Given the description of an element on the screen output the (x, y) to click on. 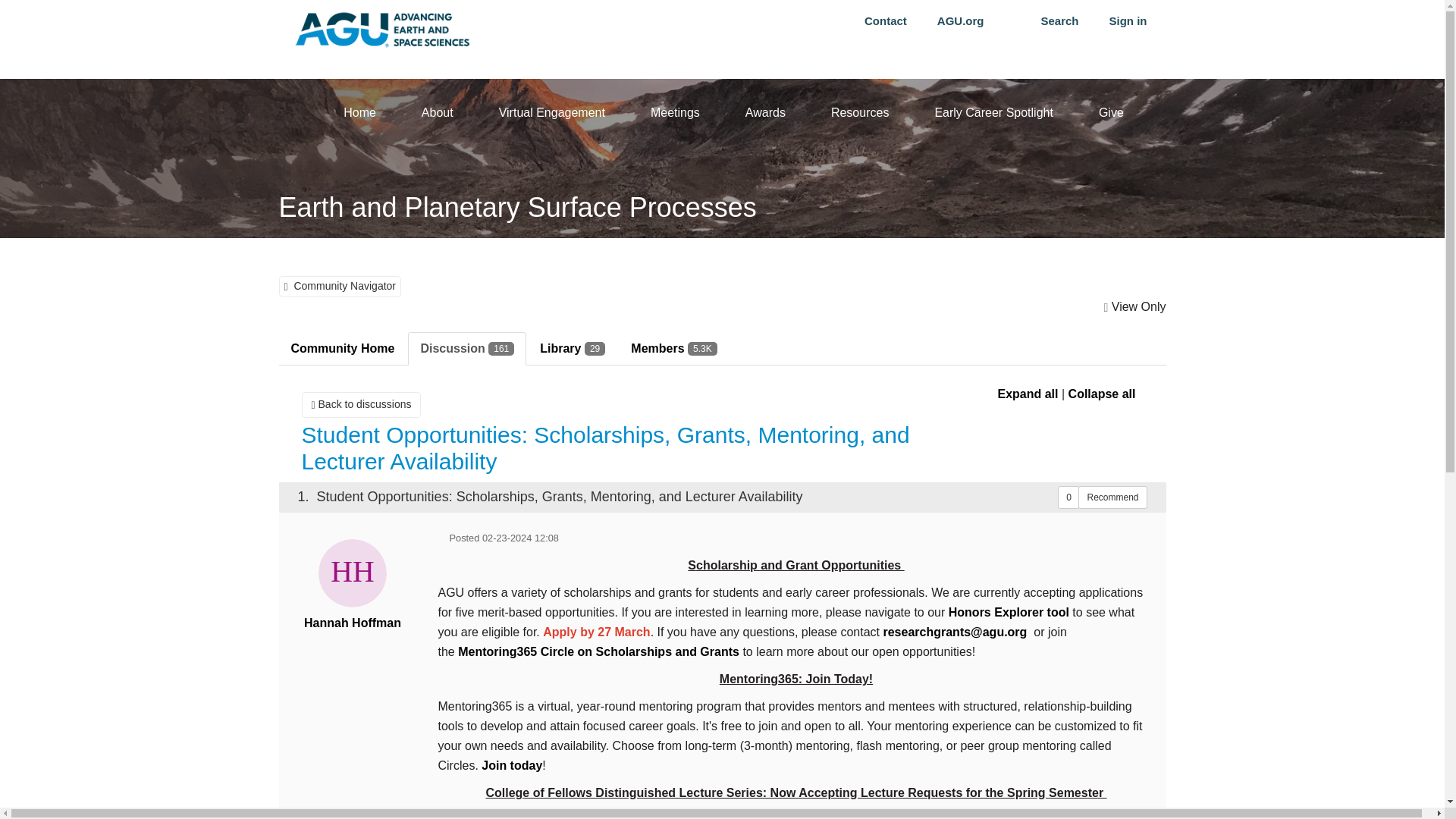
Home (359, 110)
Contact (884, 21)
Virtual Engagement (551, 110)
Sign in (1127, 21)
About (437, 110)
AGU.org (959, 21)
Nbr of recommenders (1069, 497)
How to get in contact with us (884, 21)
Search (1059, 21)
Resources (859, 110)
